Given the description of an element on the screen output the (x, y) to click on. 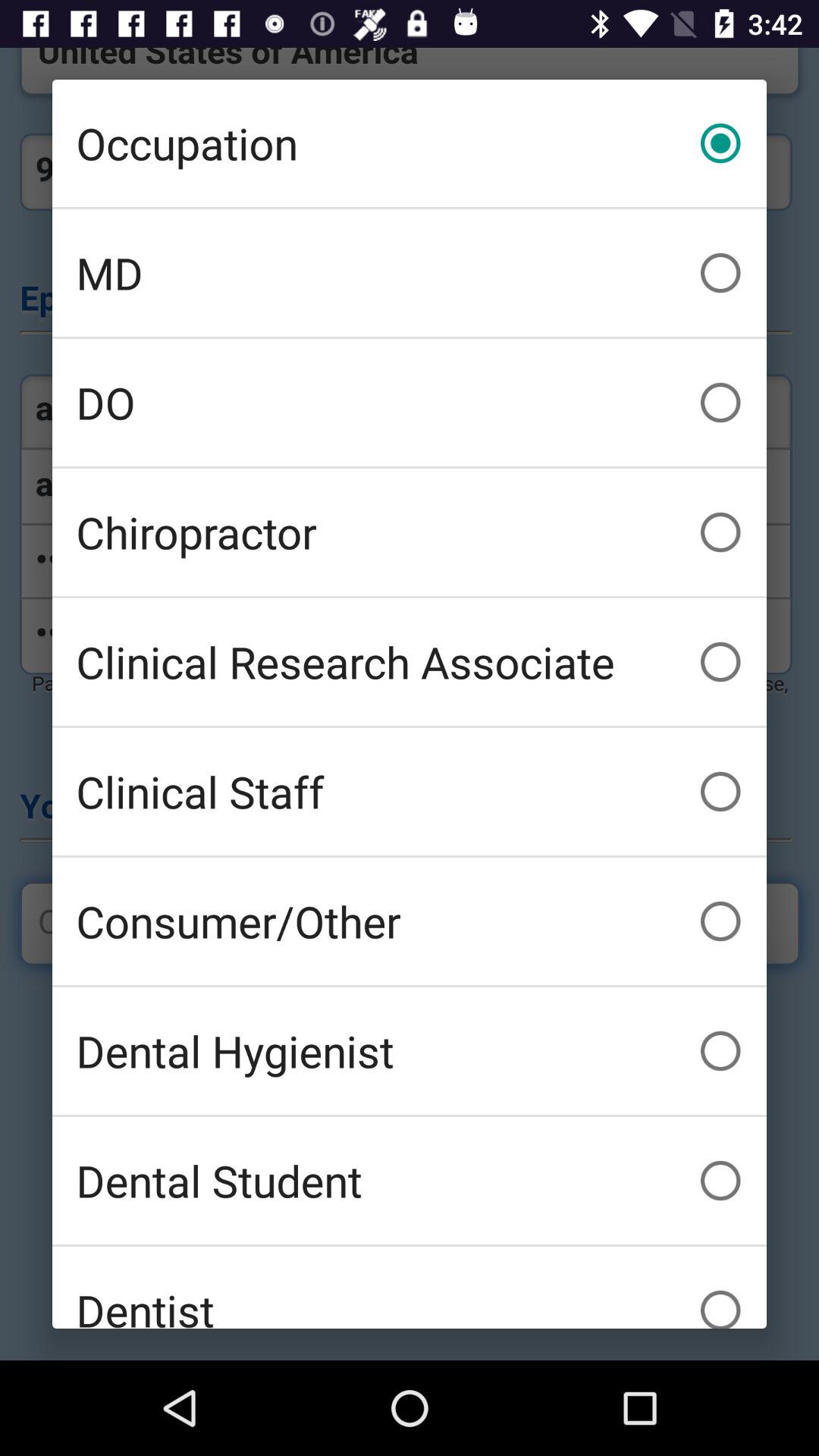
click the dentist (409, 1287)
